Given the description of an element on the screen output the (x, y) to click on. 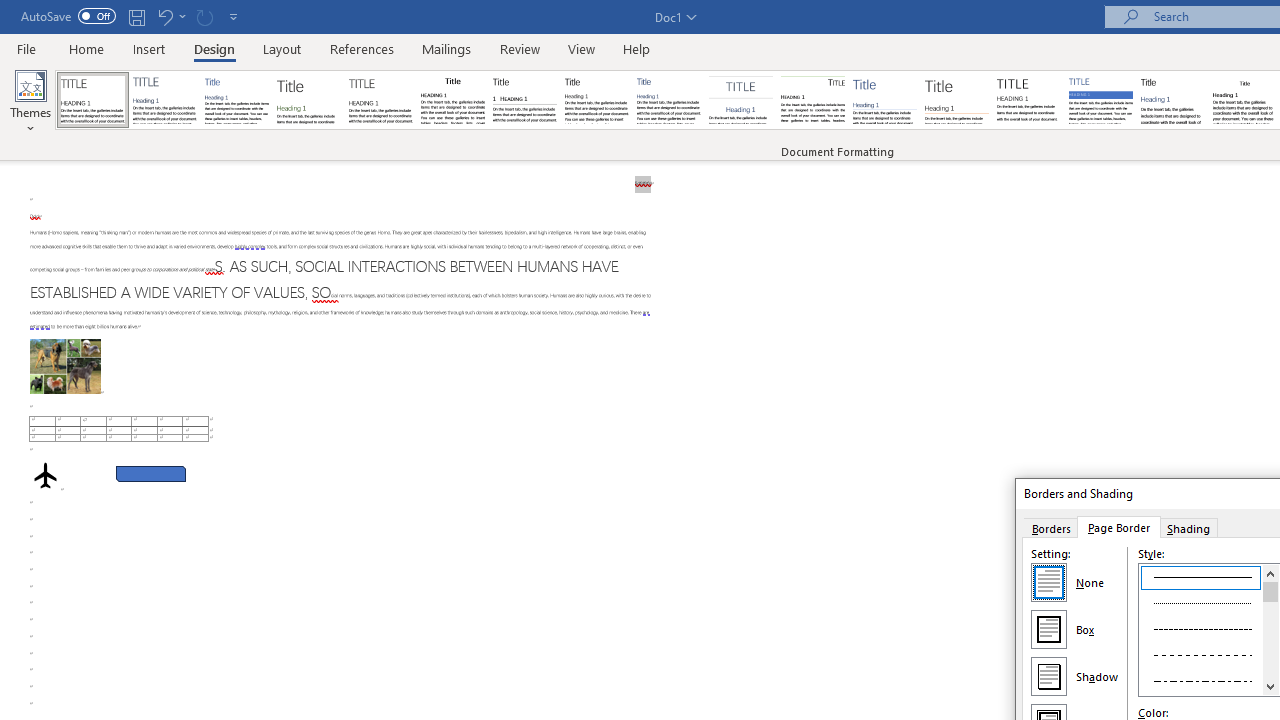
Black & White (Classic) (452, 100)
Black & White (Numbered) (524, 100)
Line down (1270, 686)
AutomationID: 37 (1270, 629)
